Given the description of an element on the screen output the (x, y) to click on. 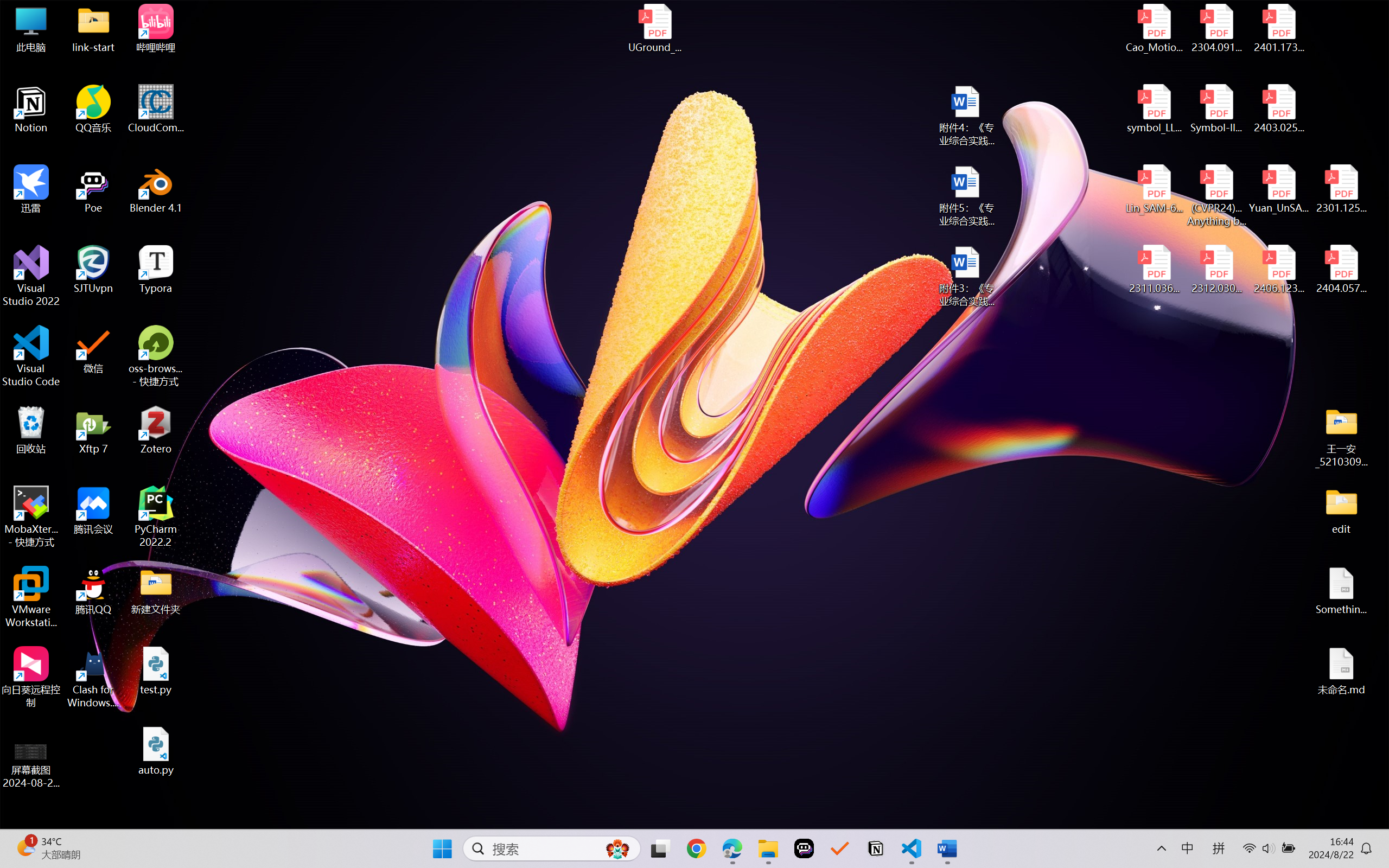
auto.py (156, 751)
SJTUvpn (93, 269)
Visual Studio Code (31, 355)
2406.12373v2.pdf (1278, 269)
(CVPR24)Matching Anything by Segmenting Anything.pdf (1216, 195)
